Given the description of an element on the screen output the (x, y) to click on. 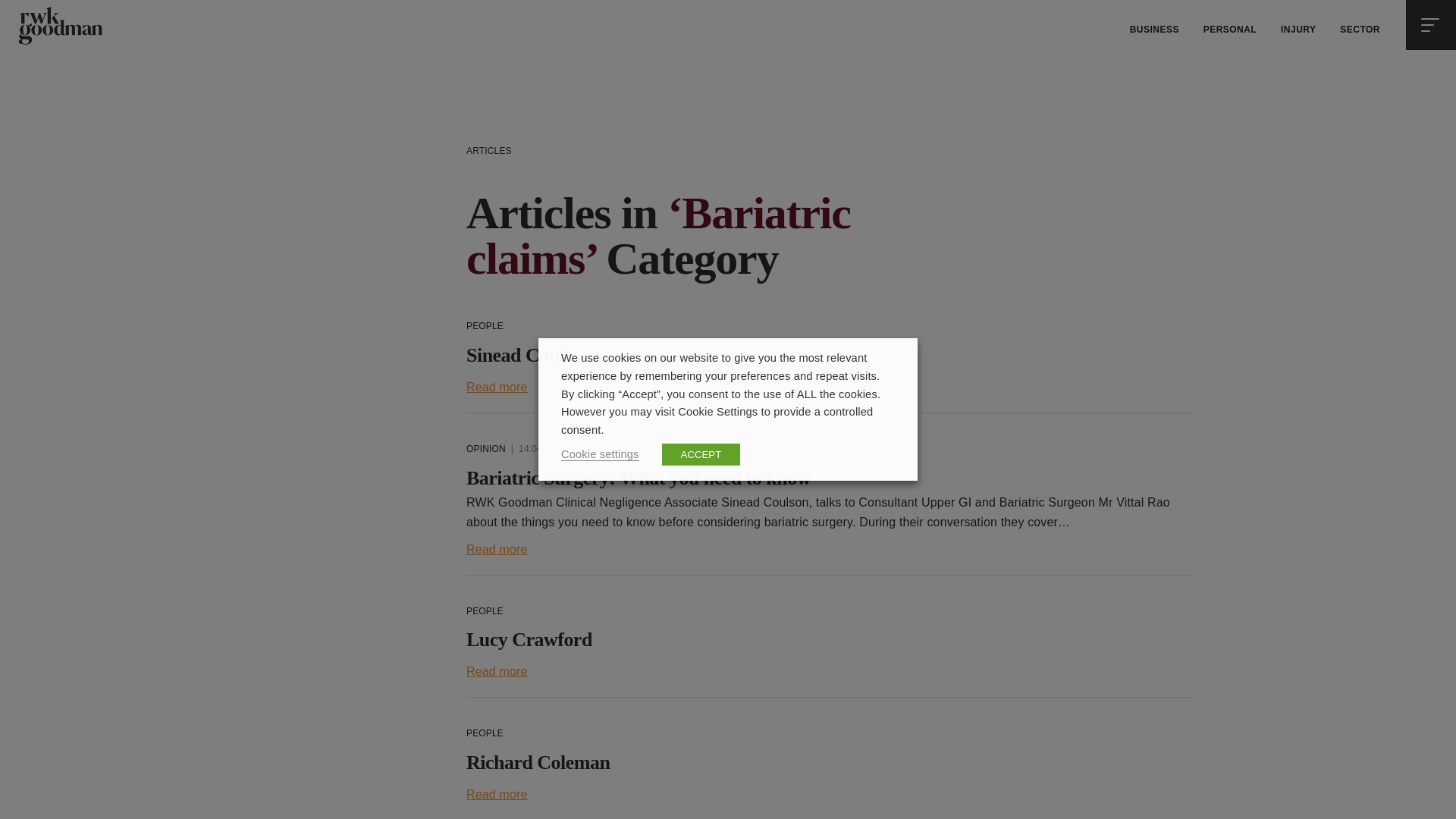
INJURY (1297, 30)
BUSINESS (1154, 30)
Royds Withy King (59, 25)
SECTOR (1359, 30)
PERSONAL (1230, 30)
